Given the description of an element on the screen output the (x, y) to click on. 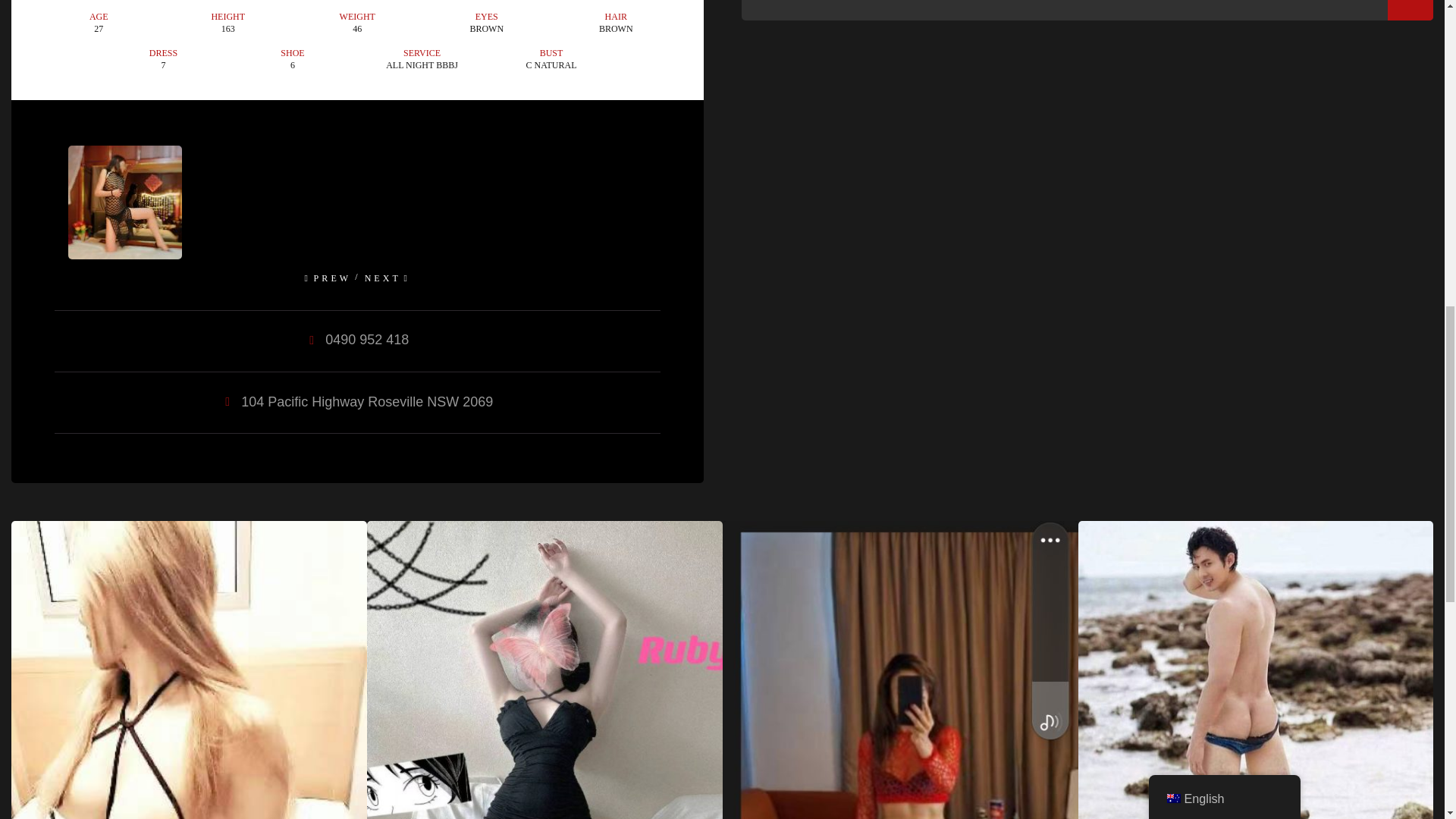
Send (1409, 10)
Send (1409, 10)
NEXT (383, 277)
PREW (333, 277)
thumb-5142 (125, 202)
